Given the description of an element on the screen output the (x, y) to click on. 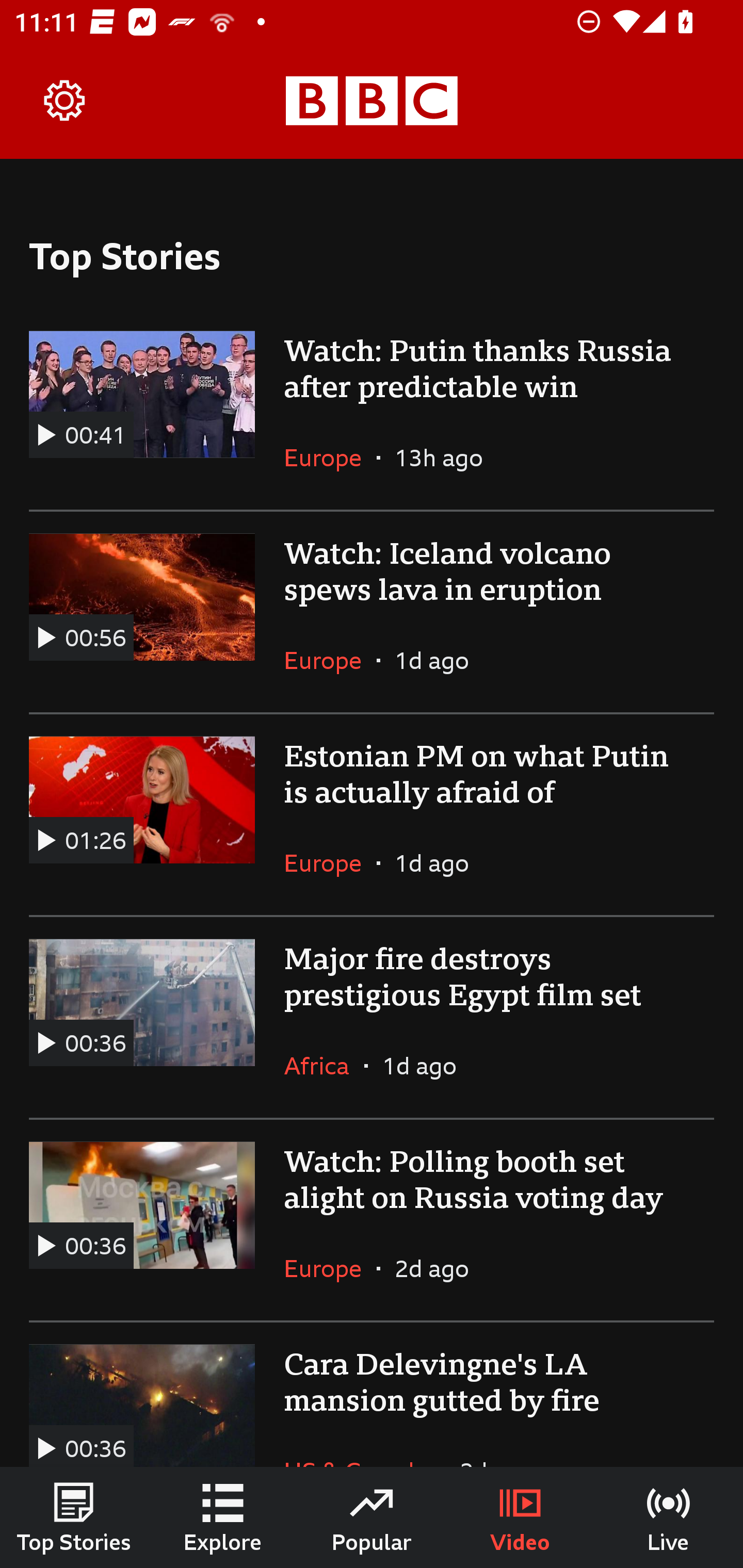
Settings (64, 100)
Europe In the section Europe (329, 457)
Europe In the section Europe (329, 659)
Europe In the section Europe (329, 862)
Africa In the section Africa (323, 1064)
Europe In the section Europe (329, 1268)
Top Stories (74, 1517)
Explore (222, 1517)
Popular (371, 1517)
Live (668, 1517)
